Given the description of an element on the screen output the (x, y) to click on. 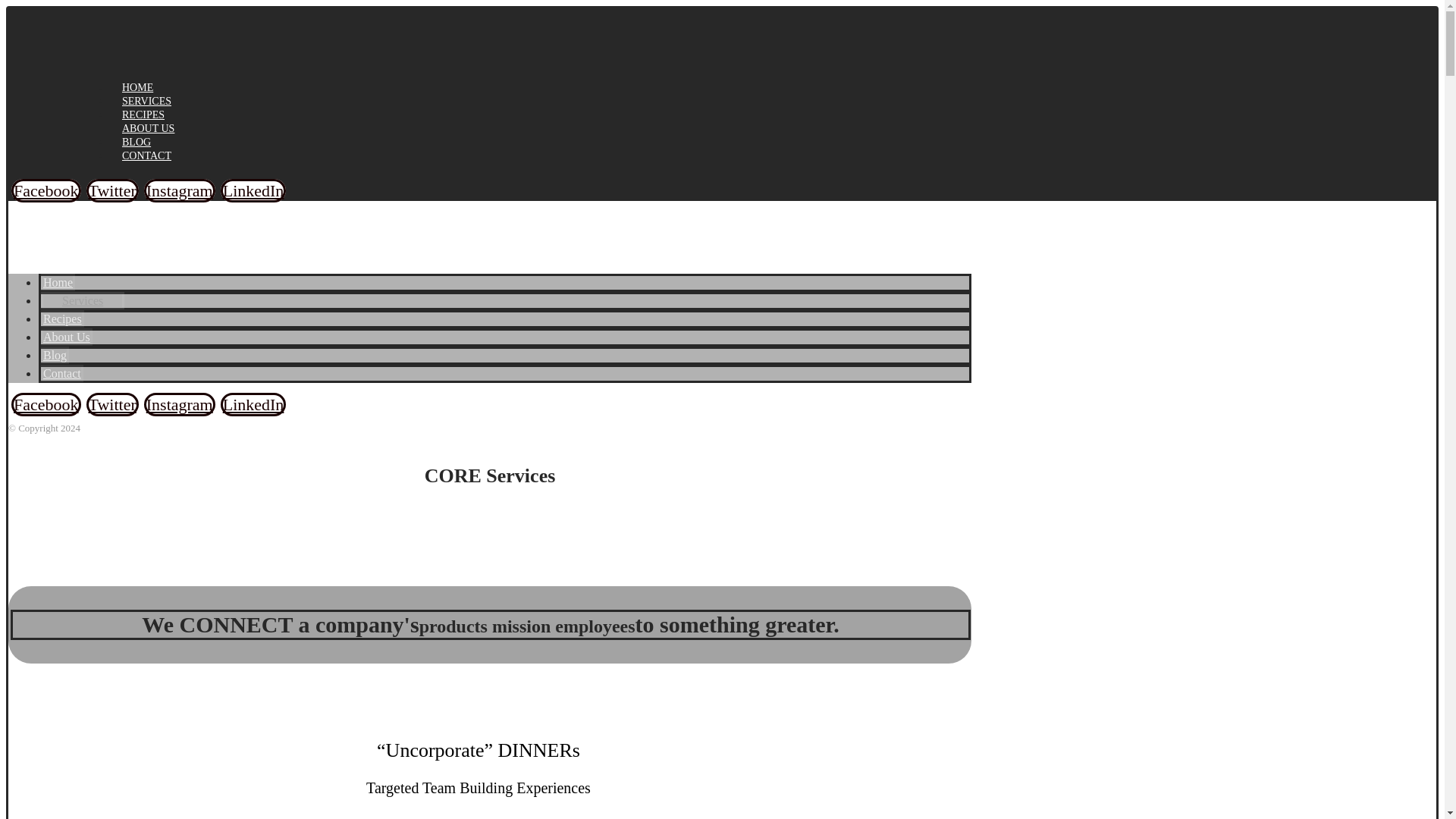
LinkedIn (253, 404)
BLOG (135, 142)
SERVICES (145, 101)
CONTACT (145, 155)
Instagram (179, 404)
Twitter (111, 404)
Home (57, 282)
Instagram (179, 190)
HOME (137, 87)
Blog (54, 354)
